Given the description of an element on the screen output the (x, y) to click on. 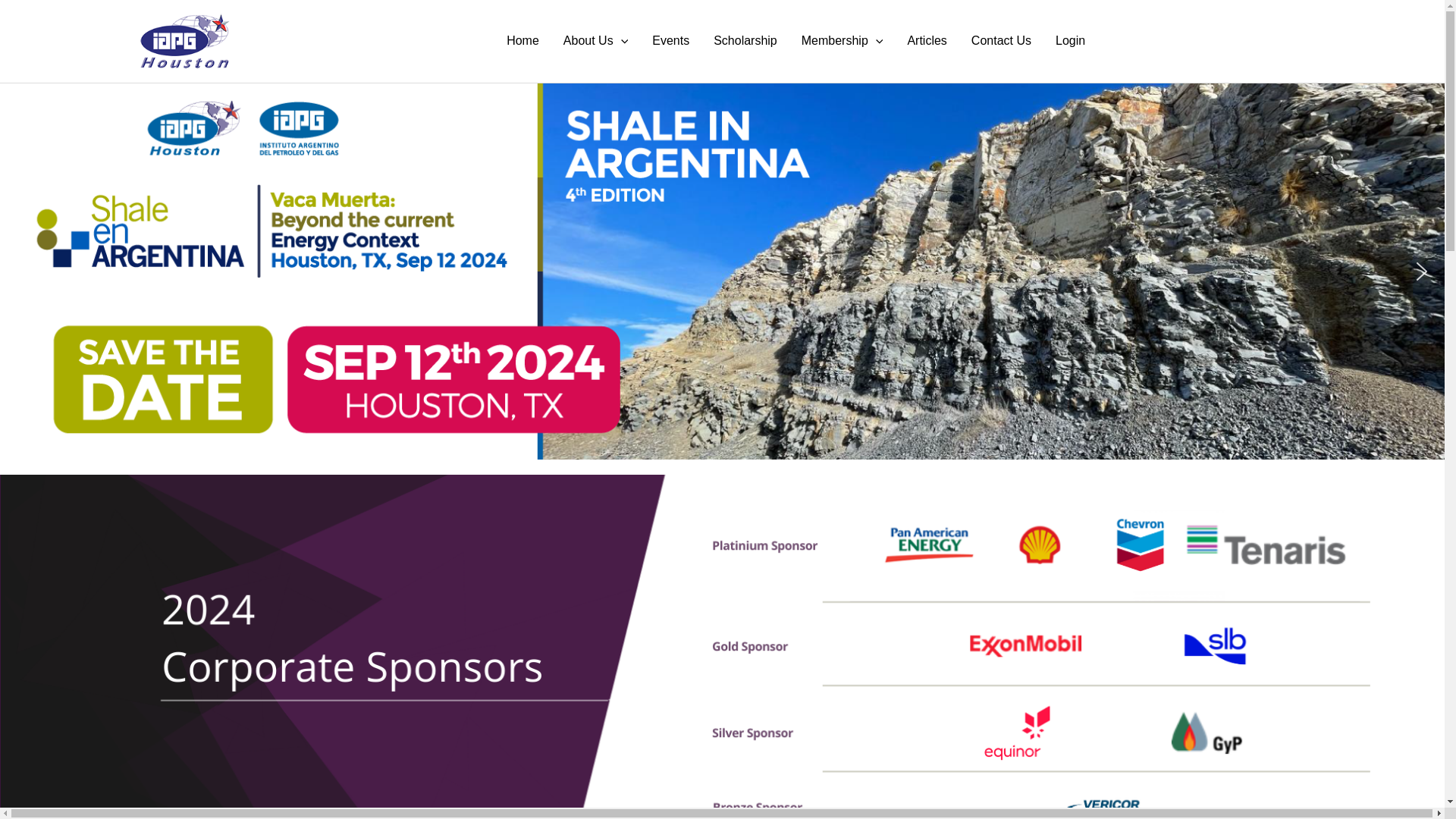
Events (670, 40)
Home (523, 40)
About Us (595, 40)
Articles (926, 40)
Membership (842, 40)
Scholarship (745, 40)
Login (1070, 40)
Contact Us (1001, 40)
